Given the description of an element on the screen output the (x, y) to click on. 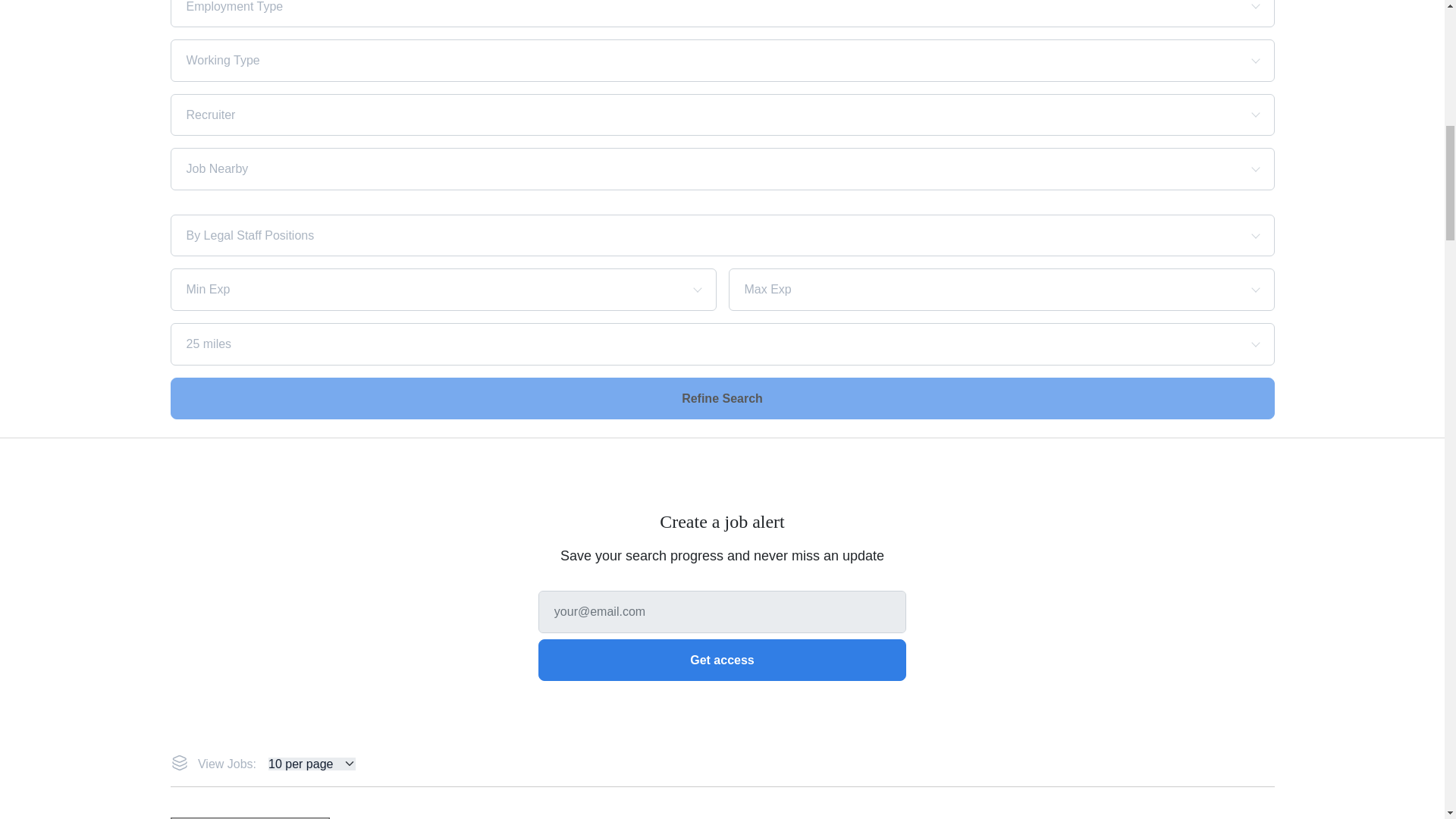
Employment Type (668, 6)
Min Exp (417, 289)
Job Nearby (668, 169)
Max Exp (975, 289)
By Legal Staff Positions (668, 235)
25 miles (668, 344)
Refine Search (722, 398)
Working Type (668, 60)
Search Jobs (722, 398)
Recruiter (668, 115)
